Given the description of an element on the screen output the (x, y) to click on. 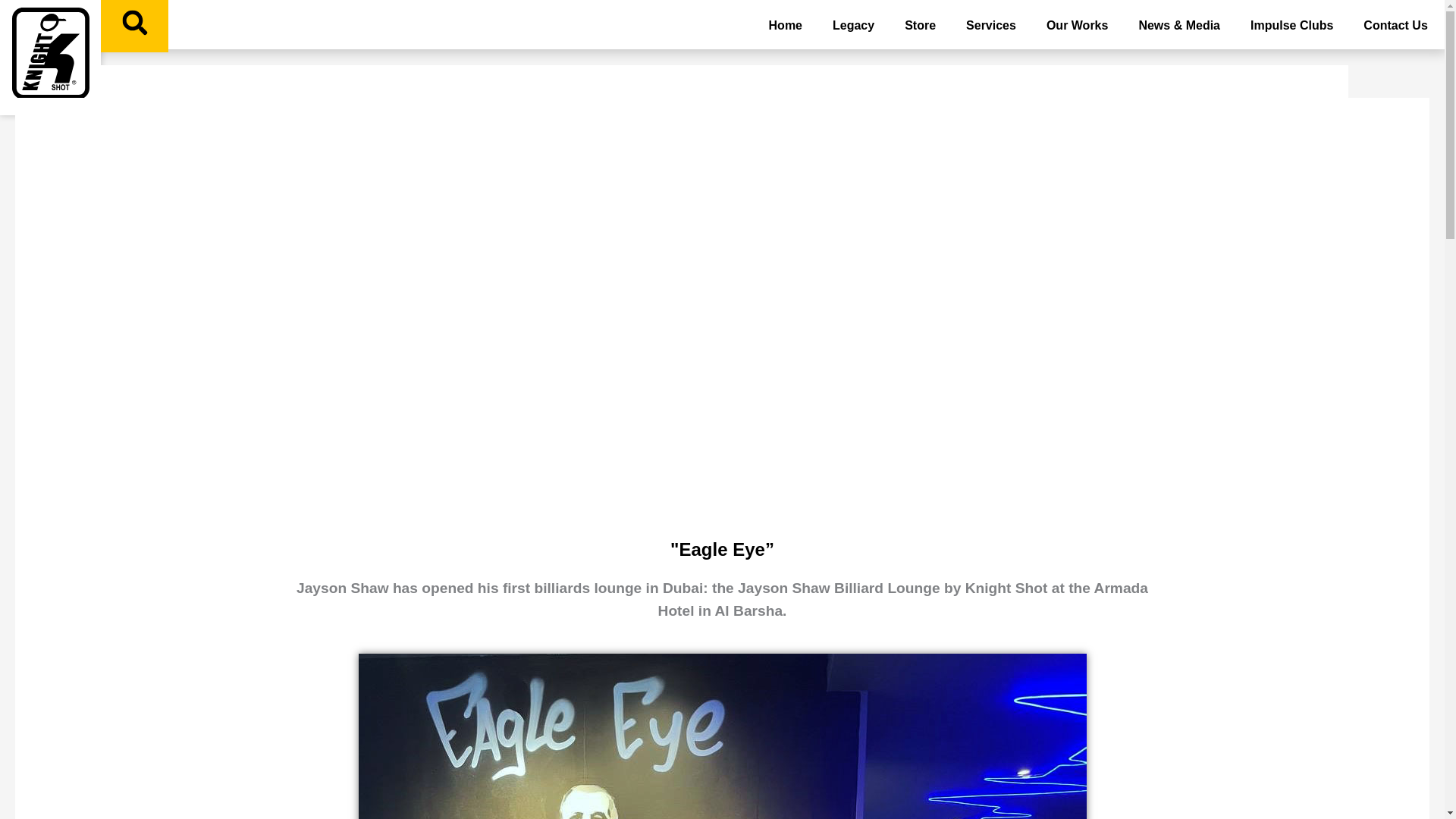
Services (990, 25)
Contact Us (1395, 25)
Store (919, 25)
Our Works (1077, 25)
Impulse Clubs (1291, 25)
Legacy (852, 25)
Home (785, 25)
